Given the description of an element on the screen output the (x, y) to click on. 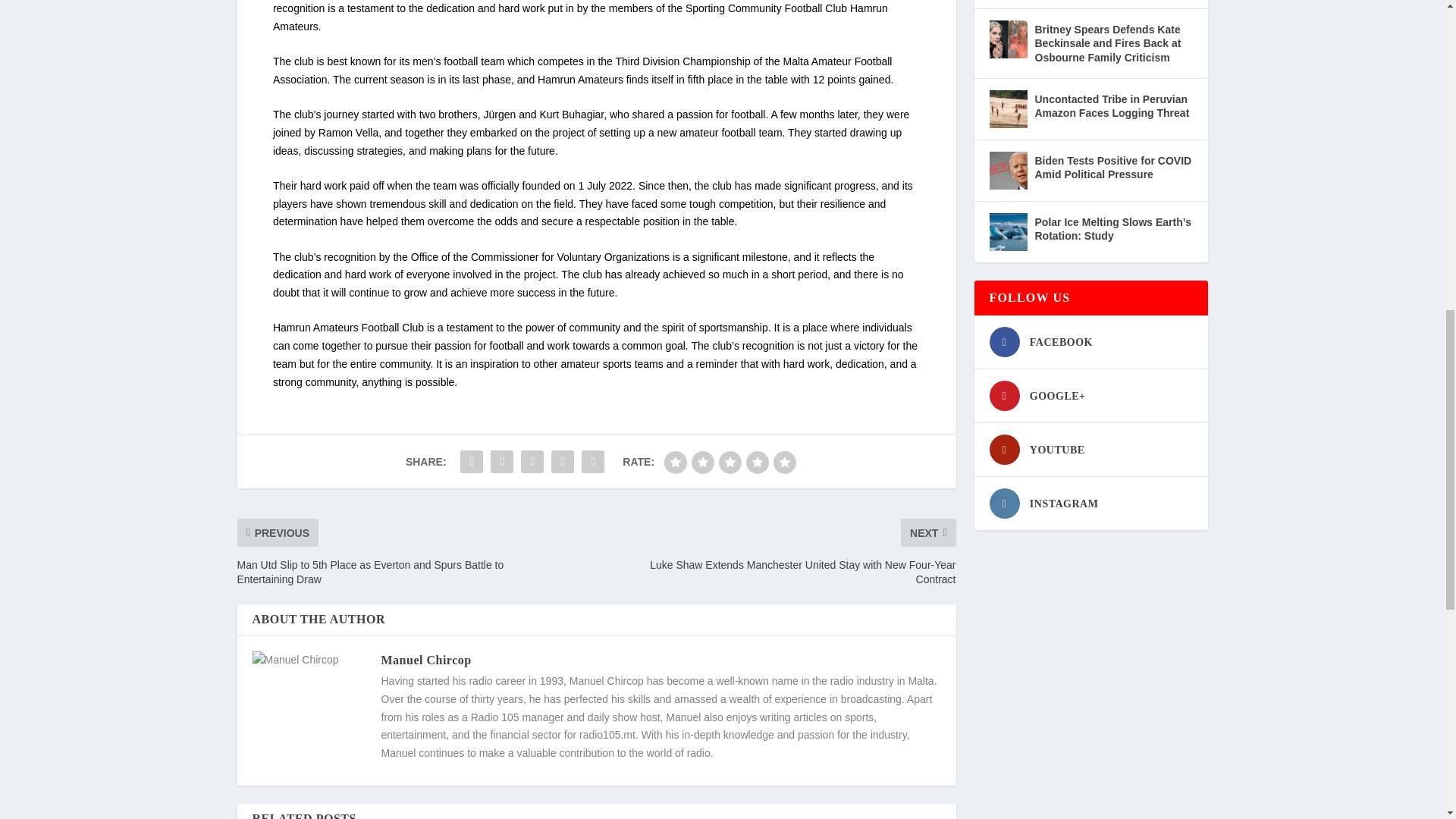
good (756, 462)
gorgeous (784, 462)
poor (702, 462)
bad (675, 462)
regular (730, 462)
View all posts by Manuel Chircop (425, 659)
